Given the description of an element on the screen output the (x, y) to click on. 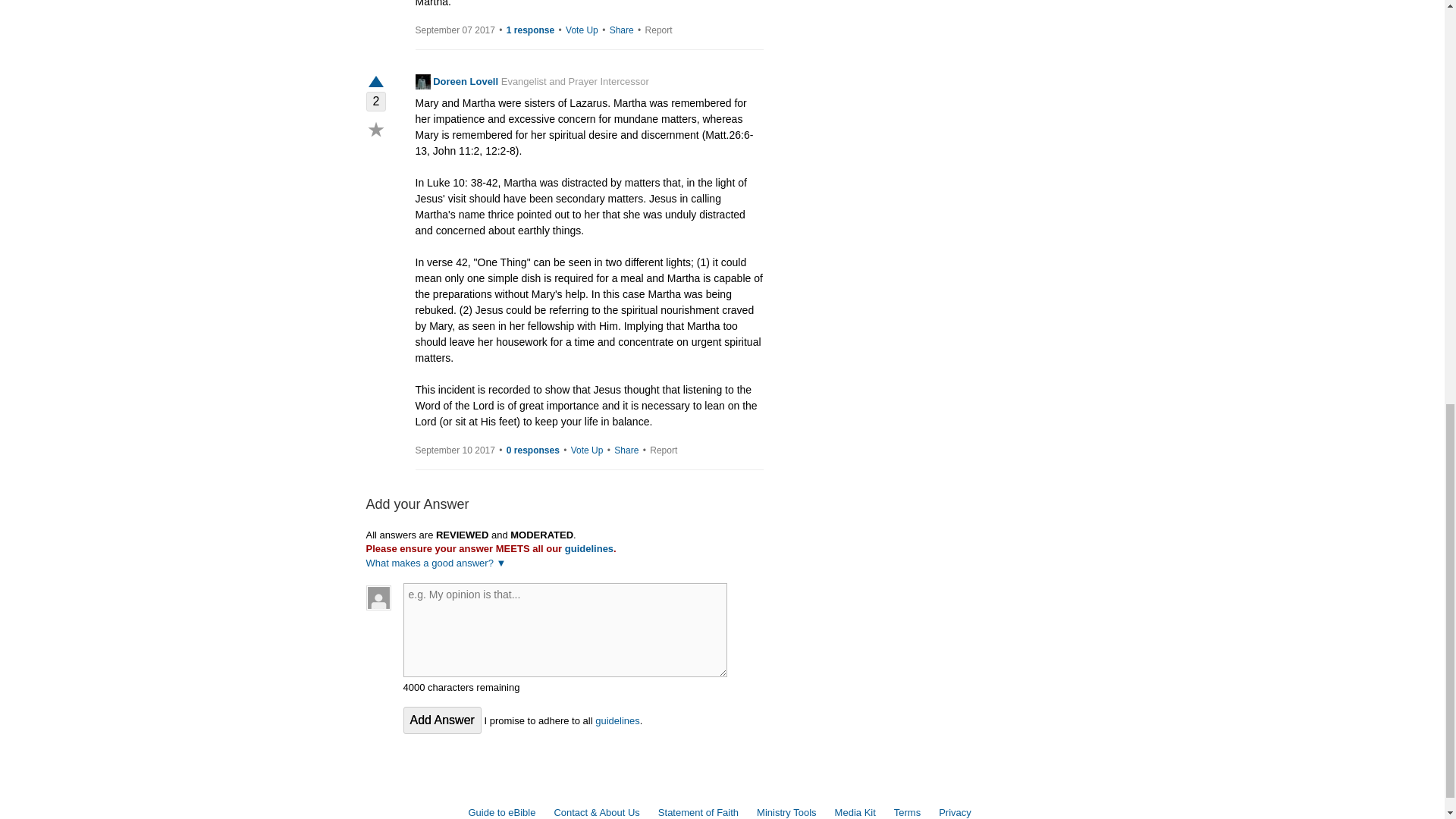
Vote Up (375, 82)
Vote Up (582, 30)
Vote Up (587, 450)
Add Answer (442, 719)
